Given the description of an element on the screen output the (x, y) to click on. 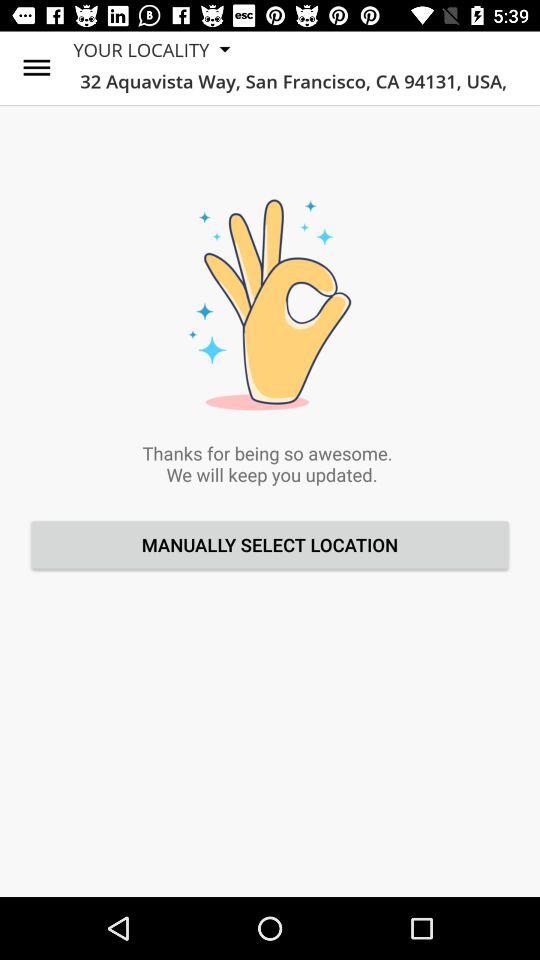
jump to the manually select location icon (269, 544)
